Given the description of an element on the screen output the (x, y) to click on. 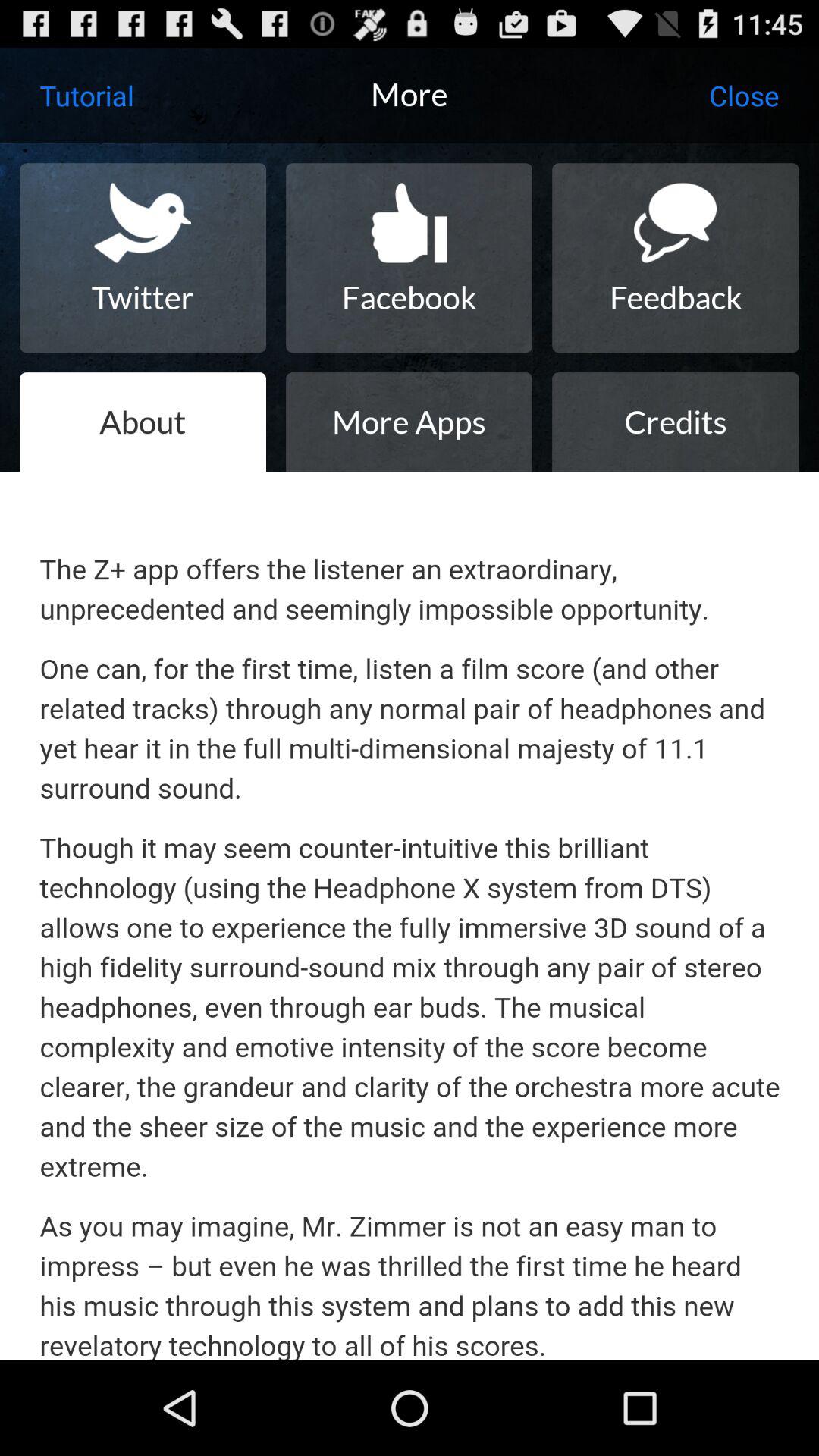
turn on icon to the right of facebook item (675, 257)
